Given the description of an element on the screen output the (x, y) to click on. 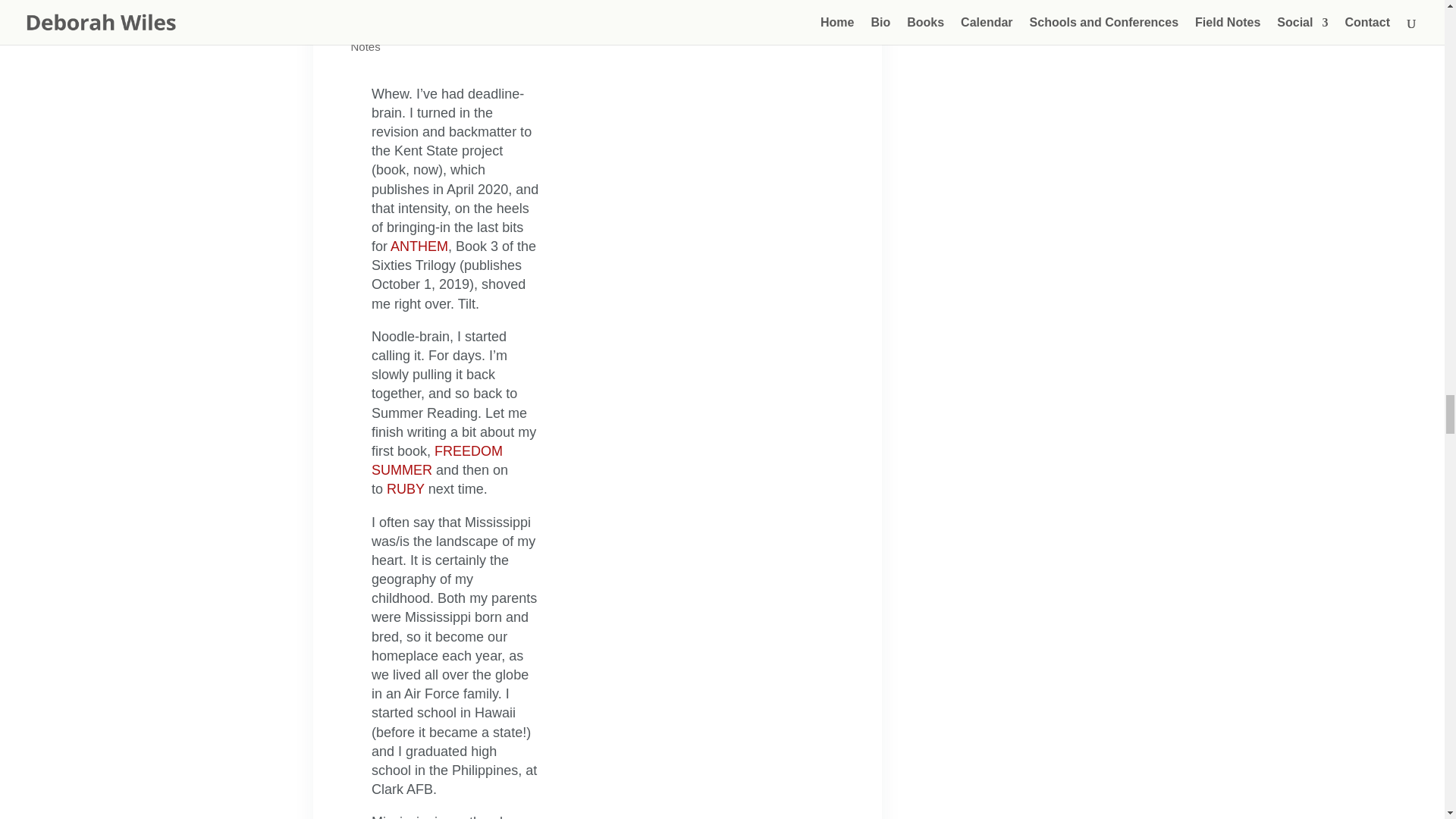
Posts by Deborah Wiles (403, 27)
